Given the description of an element on the screen output the (x, y) to click on. 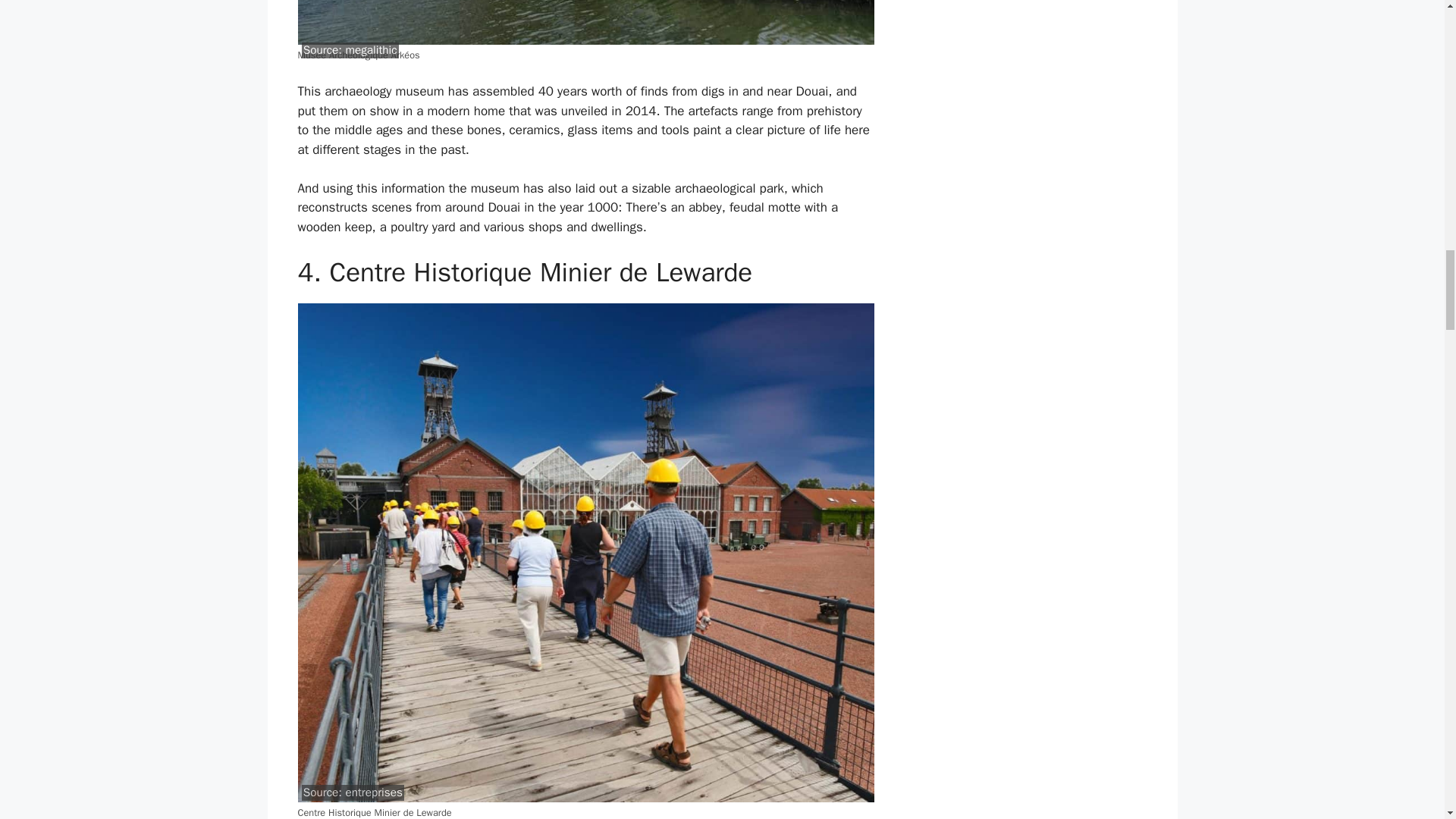
entreprises (373, 792)
megalithic (370, 49)
